Given the description of an element on the screen output the (x, y) to click on. 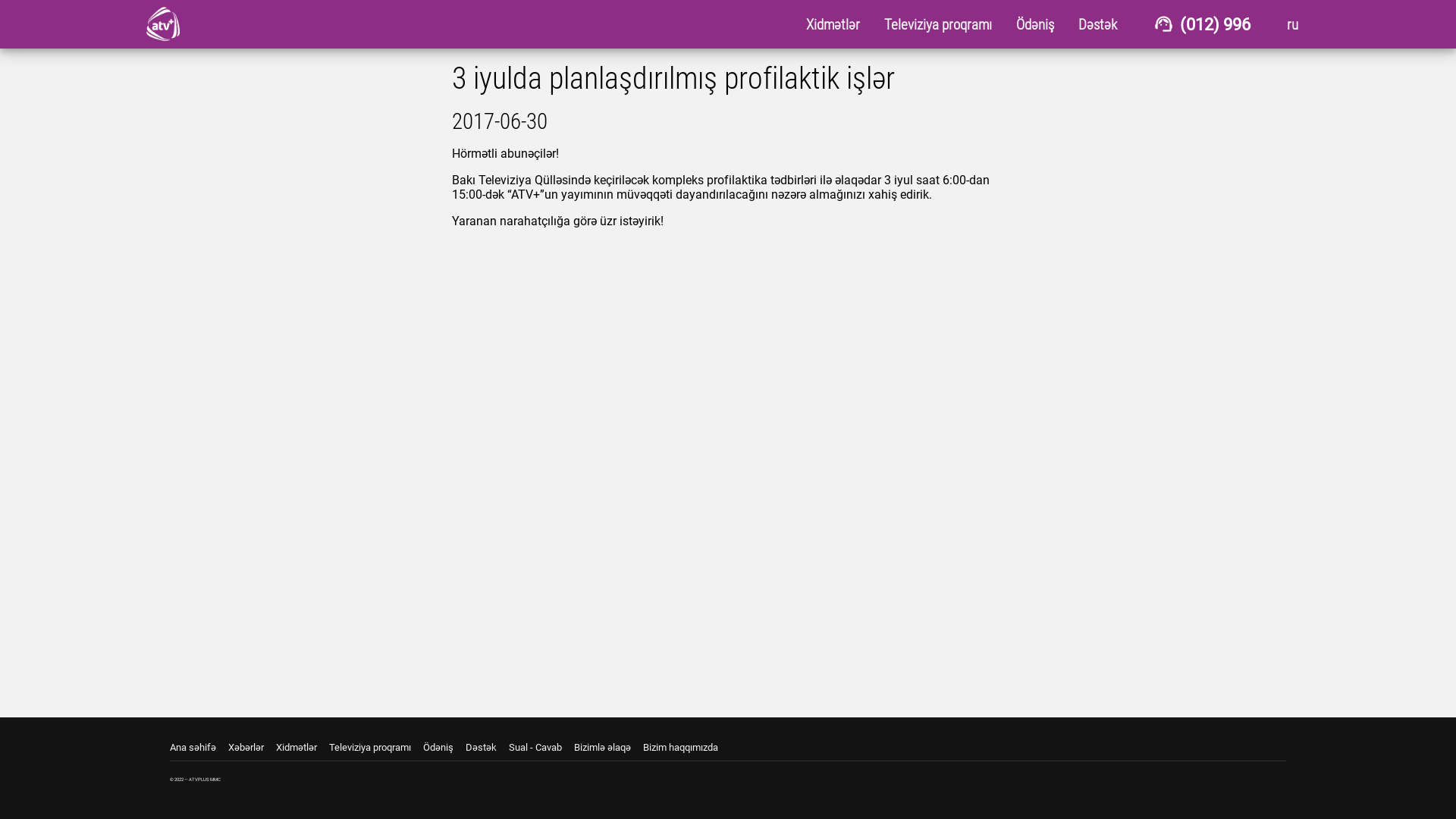
ru Element type: text (1292, 24)
Sual - Cavab Element type: text (541, 747)
